Given the description of an element on the screen output the (x, y) to click on. 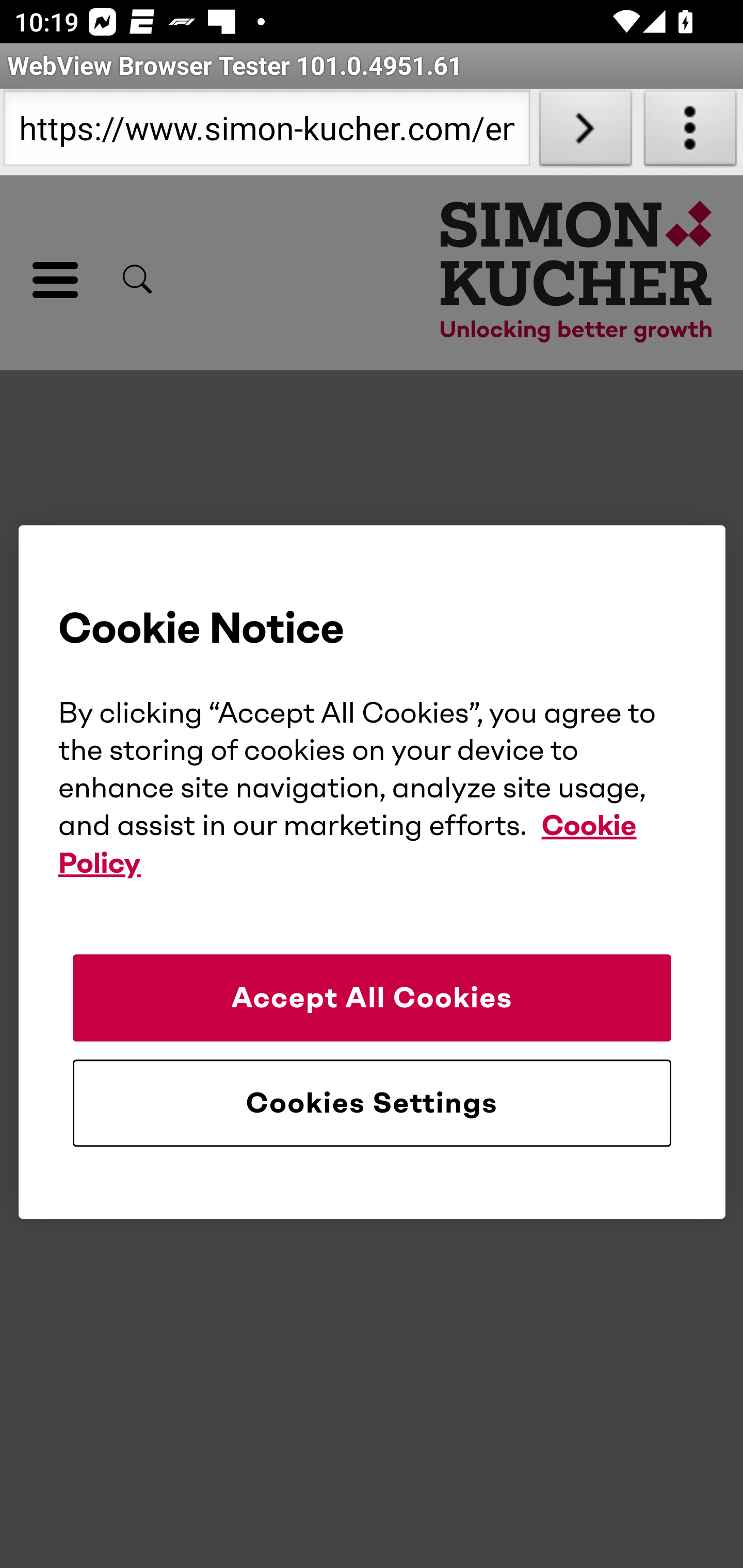
Load URL (585, 132)
About WebView (690, 132)
Accept All Cookies (371, 997)
Cookies Settings (371, 1102)
